Given the description of an element on the screen output the (x, y) to click on. 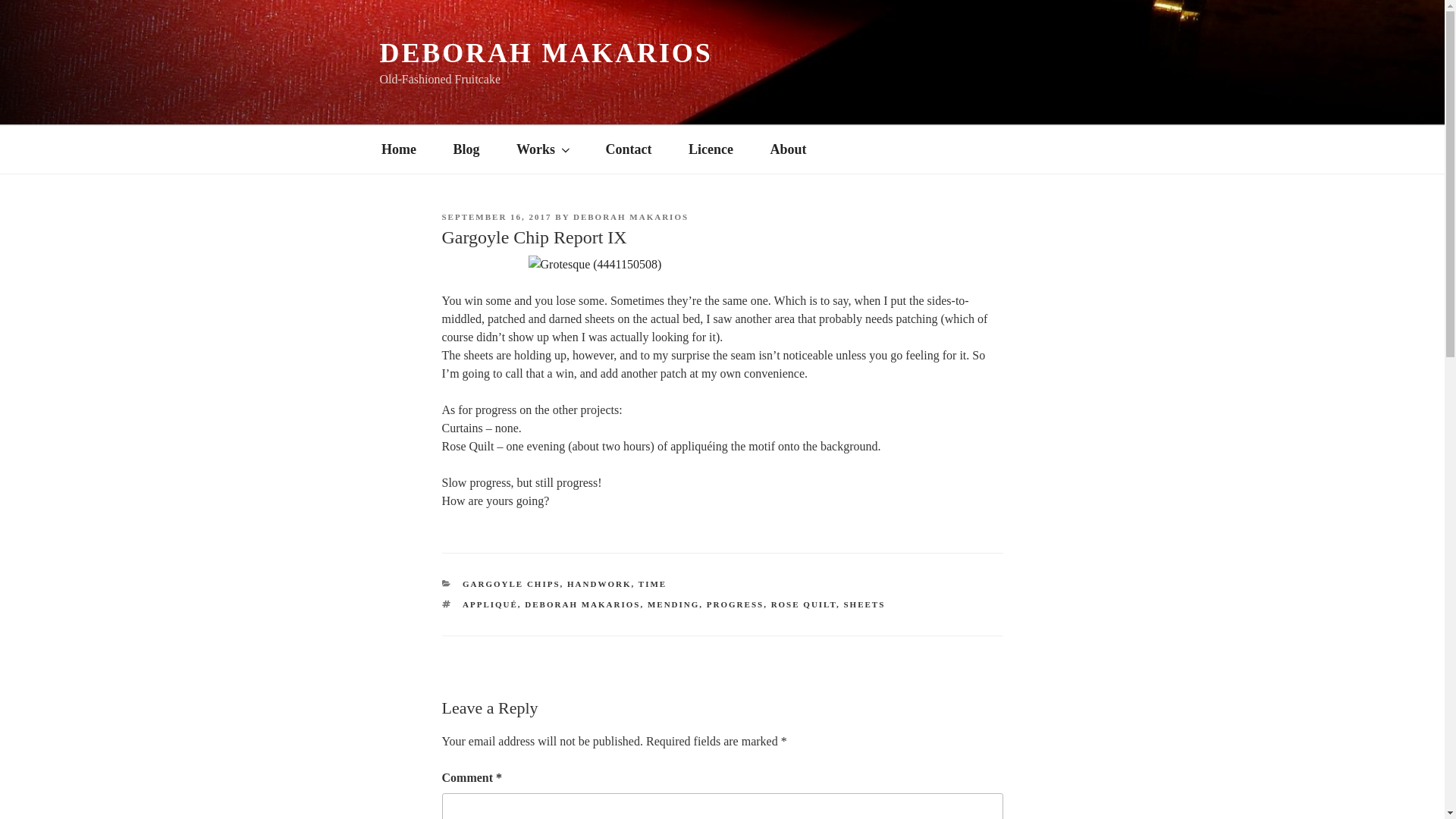
PROGRESS (734, 604)
Blog (465, 149)
About (788, 149)
Contact (628, 149)
Home (398, 149)
GARGOYLE CHIPS (511, 583)
SHEETS (864, 604)
HANDWORK (598, 583)
TIME (652, 583)
Licence (711, 149)
SEPTEMBER 16, 2017 (496, 216)
DEBORAH MAKARIOS (582, 604)
DEBORAH MAKARIOS (630, 216)
MENDING (672, 604)
DEBORAH MAKARIOS (544, 52)
